Given the description of an element on the screen output the (x, y) to click on. 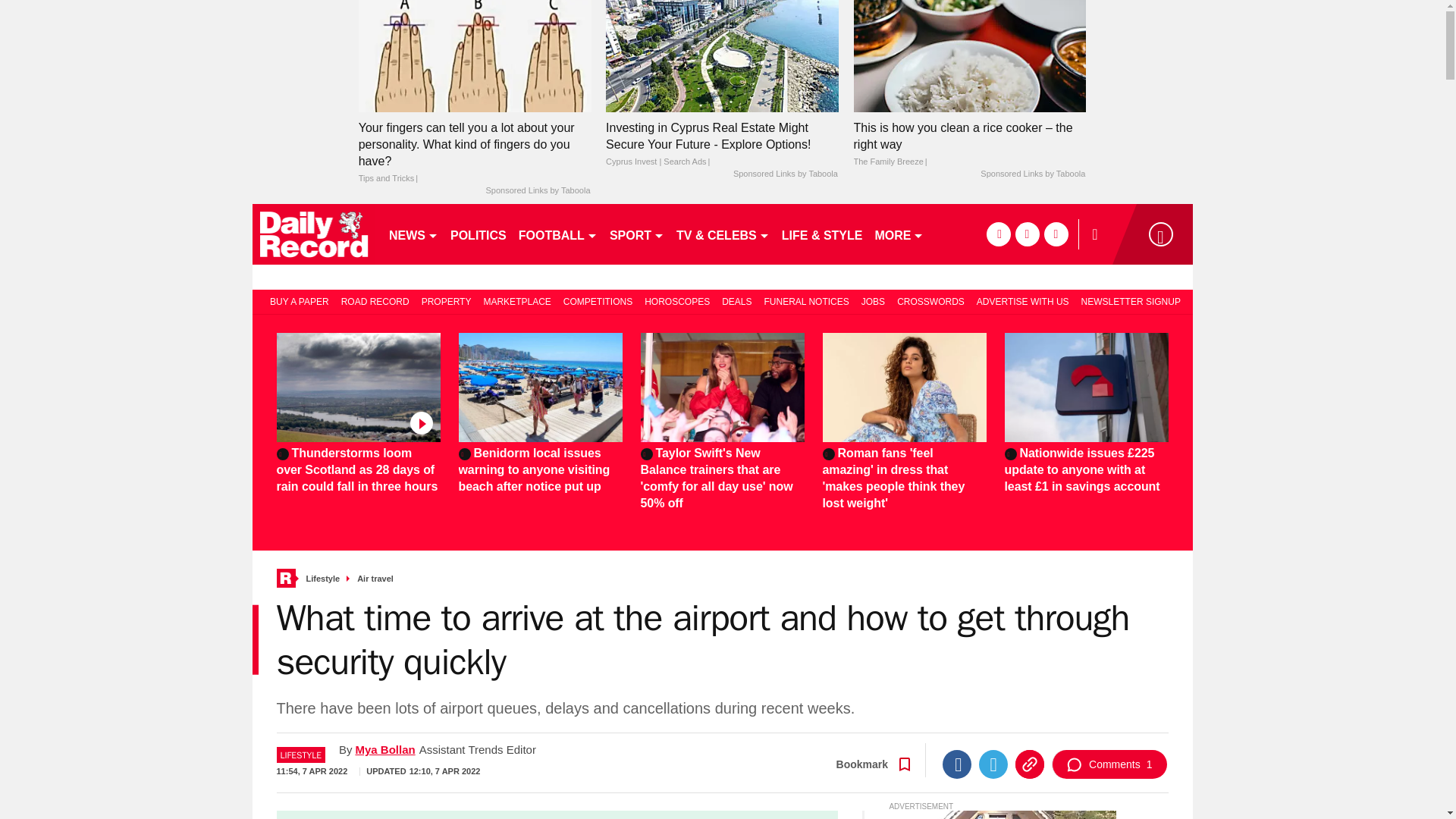
Sponsored Links by Taboola (1031, 174)
Sponsored Links by Taboola (785, 174)
FOOTBALL (558, 233)
Comments (1108, 764)
instagram (1055, 233)
facebook (997, 233)
twitter (1026, 233)
dailyrecord (313, 233)
Sponsored Links by Taboola (536, 190)
Twitter (992, 764)
Facebook (956, 764)
NEWS (413, 233)
POLITICS (478, 233)
